Given the description of an element on the screen output the (x, y) to click on. 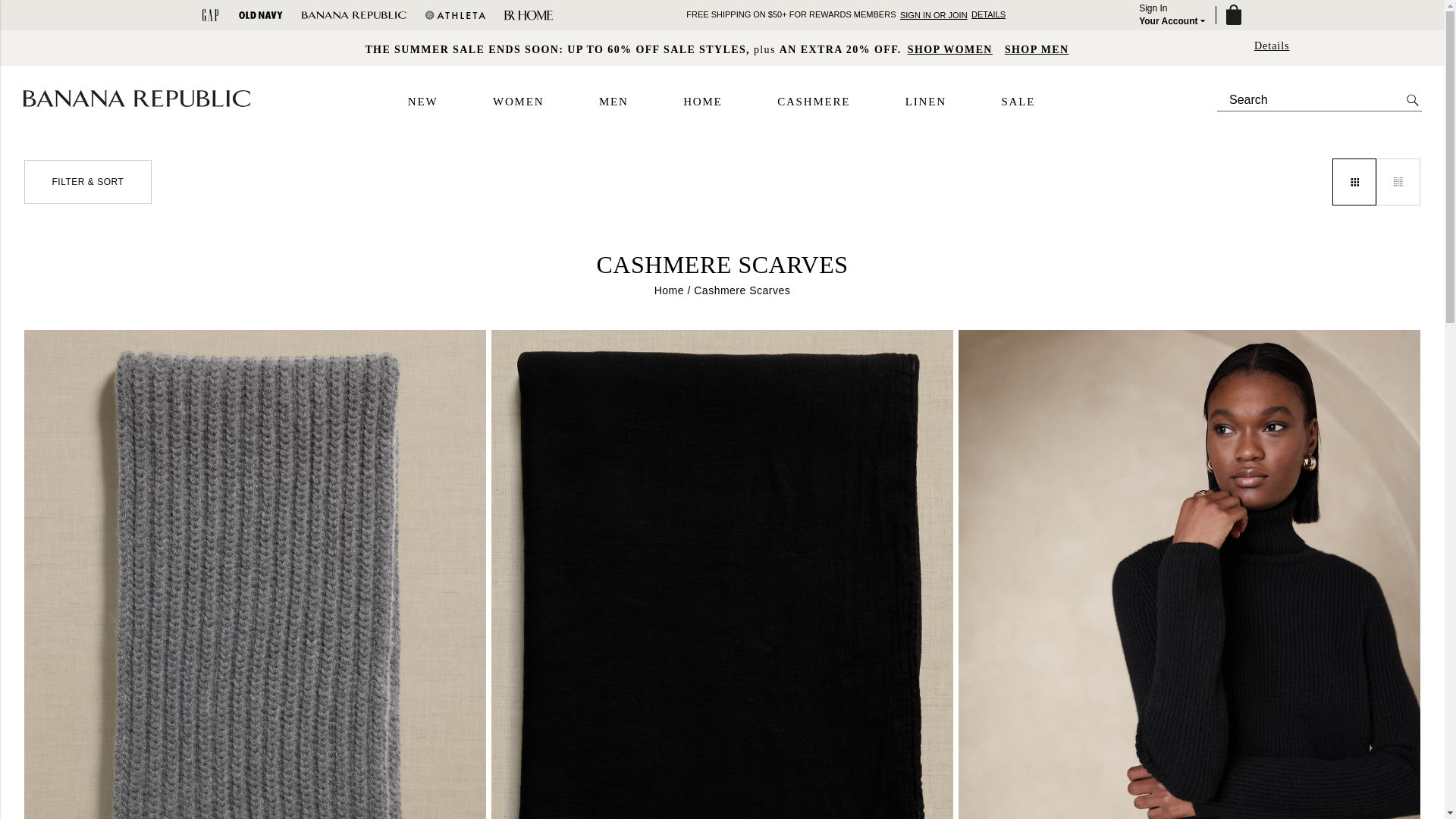
SHOP MEN (1036, 49)
NEW (422, 101)
Details (1271, 45)
MEN (613, 101)
HOME (702, 101)
WOMEN (518, 101)
SALE (1018, 101)
DETAILS (988, 13)
Bag (1232, 15)
LINEN (925, 101)
CASHMERE (813, 101)
